Given the description of an element on the screen output the (x, y) to click on. 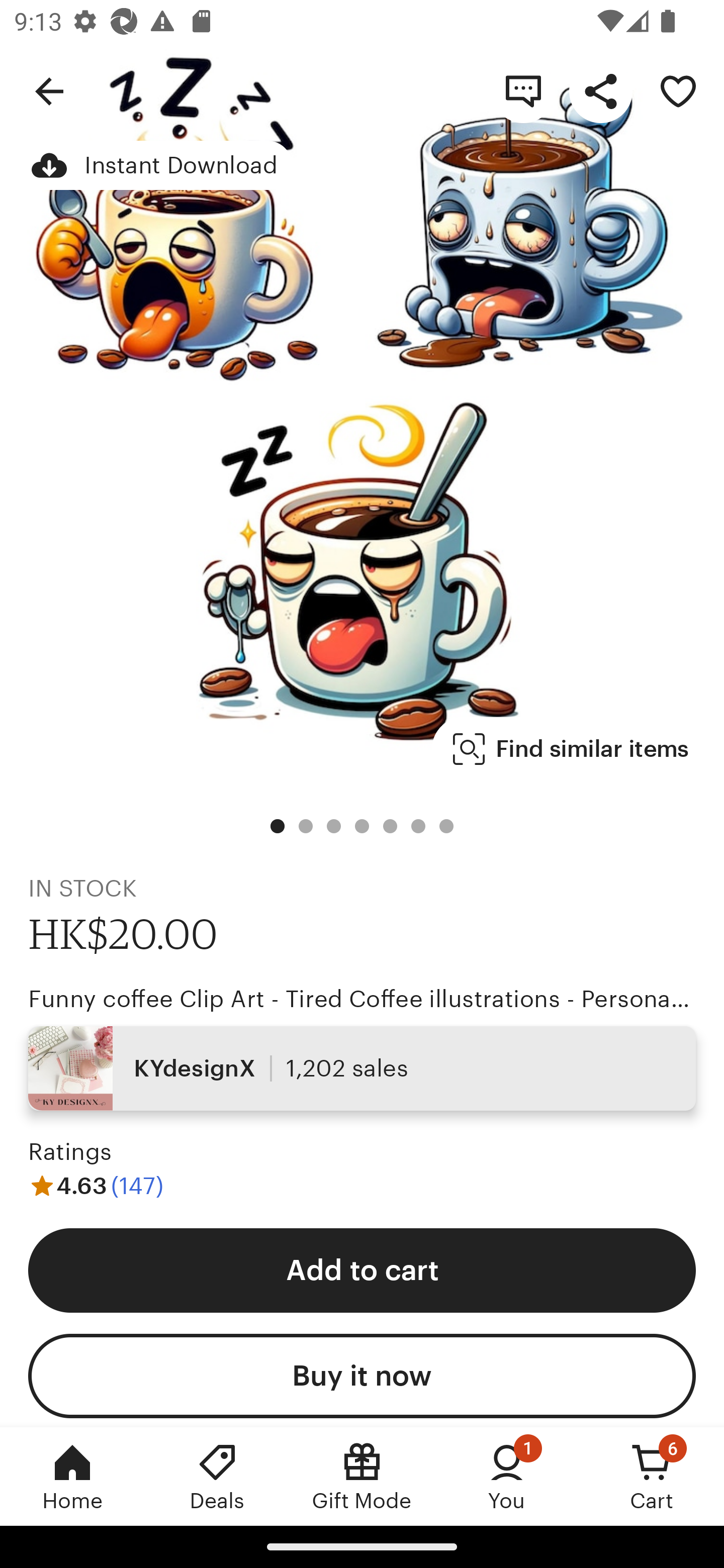
Navigate up (49, 90)
Contact shop (523, 90)
Share (600, 90)
Find similar items (571, 748)
KYdesignX 1,202 sales (361, 1067)
Ratings (70, 1151)
4.63 (147) (95, 1185)
Add to cart (361, 1269)
Buy it now (361, 1375)
Deals (216, 1475)
Gift Mode (361, 1475)
You, 1 new notification You (506, 1475)
Cart, 6 new notifications Cart (651, 1475)
